Given the description of an element on the screen output the (x, y) to click on. 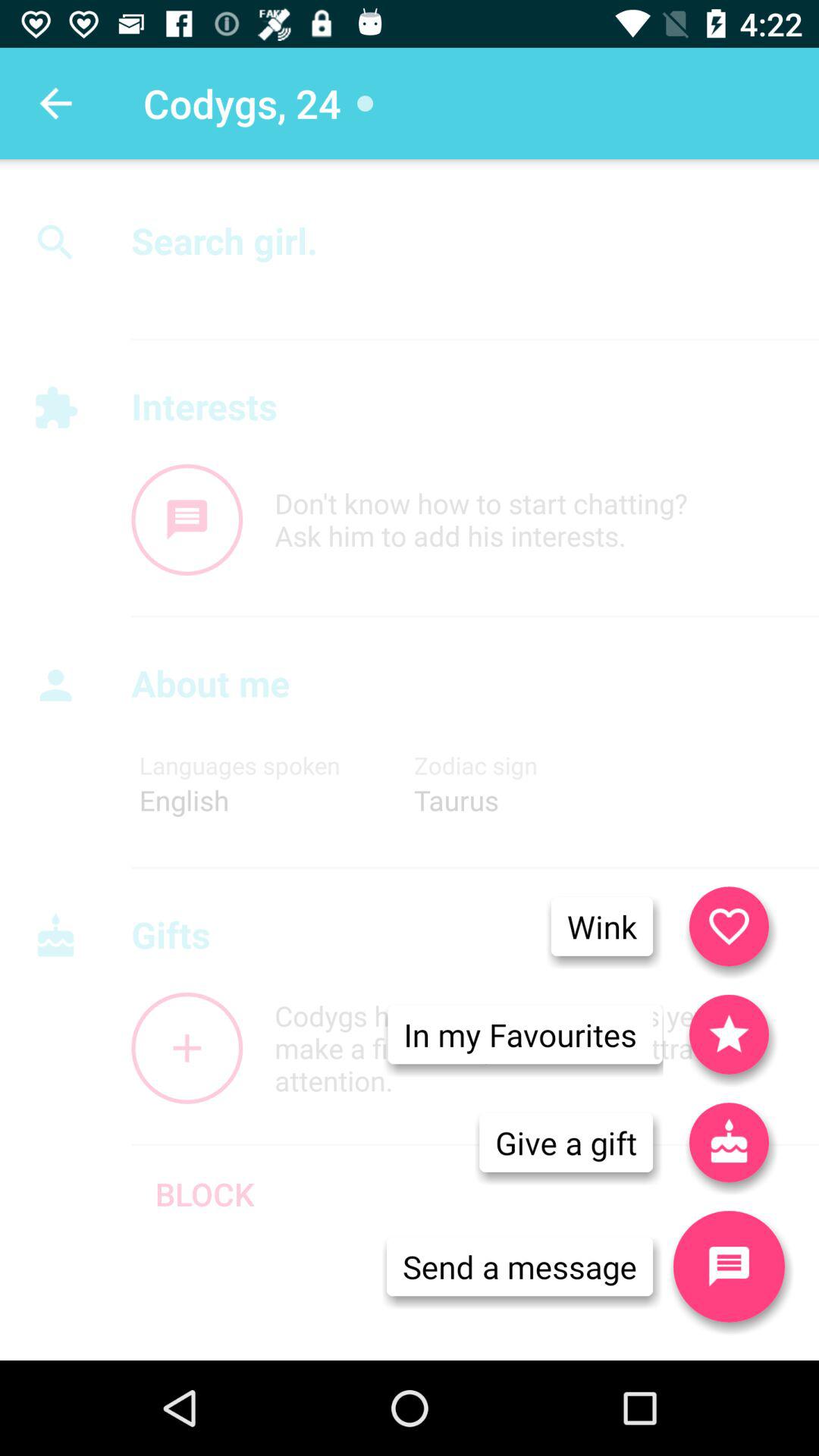
turn off the item below in my favourites item (566, 1142)
